Given the description of an element on the screen output the (x, y) to click on. 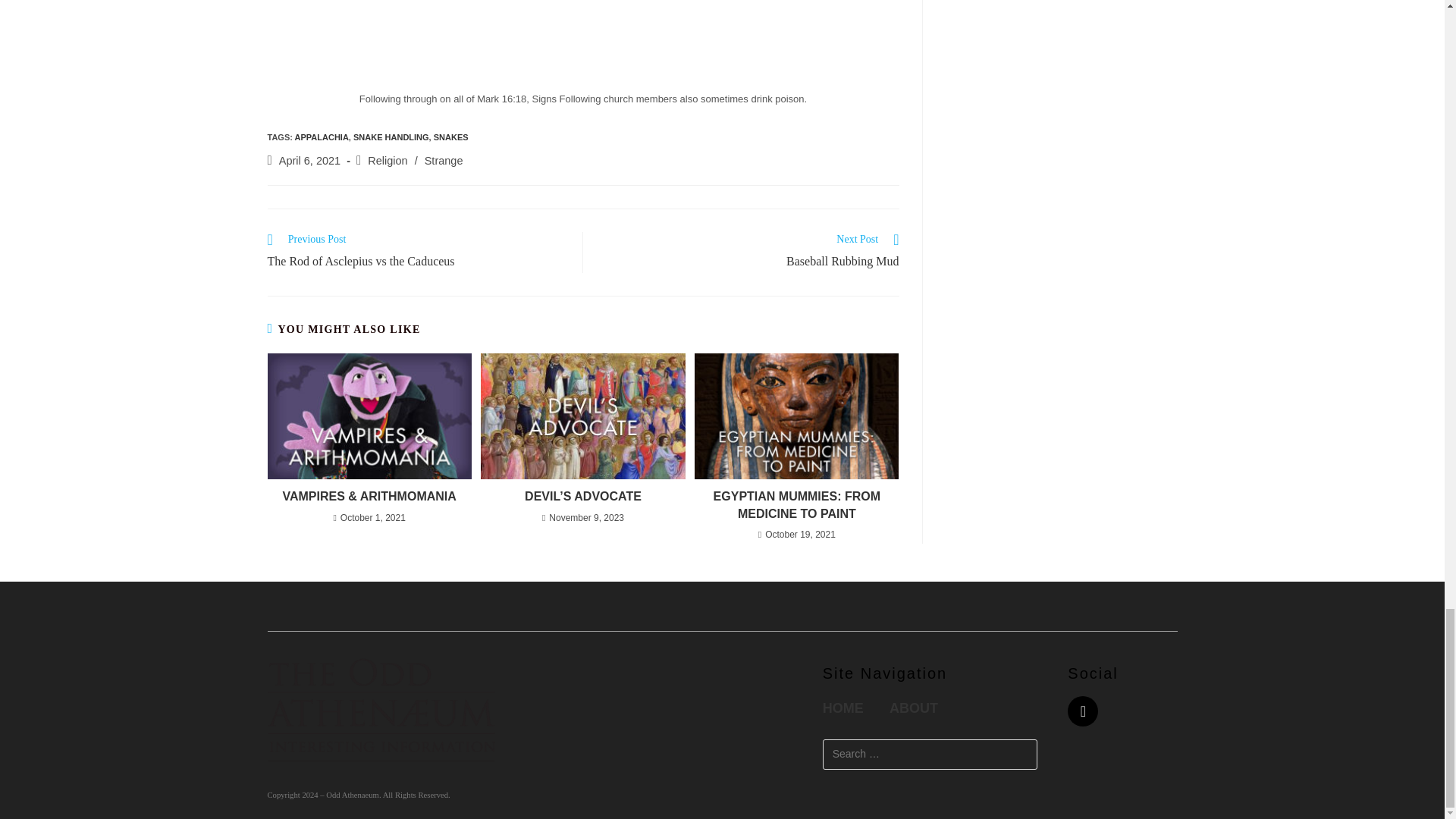
Search for: (930, 754)
SNAKES (450, 136)
APPALACHIA (322, 136)
Religion (387, 160)
Strange (416, 251)
SNAKE HANDLING (444, 160)
